Given the description of an element on the screen output the (x, y) to click on. 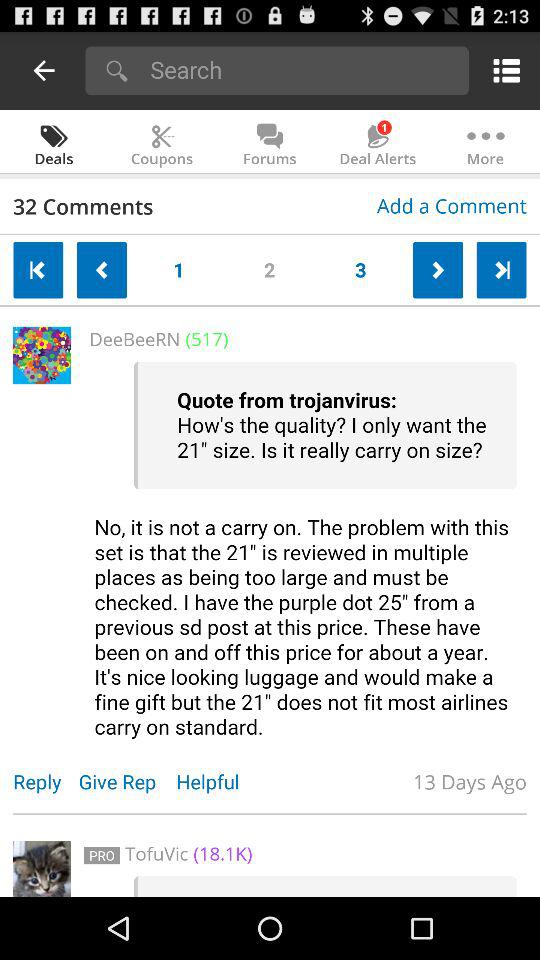
open the menu (502, 70)
